Given the description of an element on the screen output the (x, y) to click on. 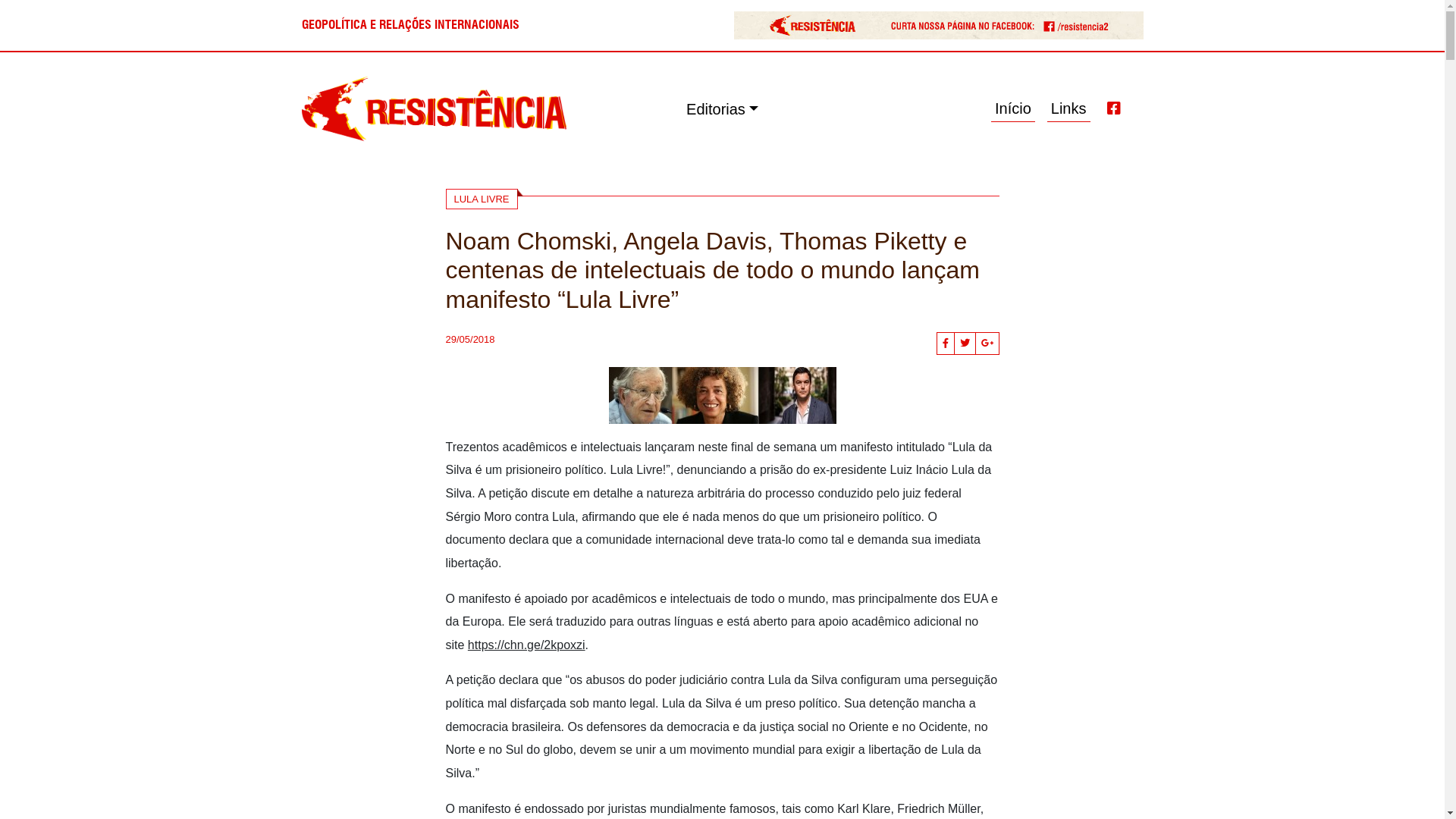
Links Element type: text (1068, 108)
Editorias Element type: text (722, 108)
LULA LIVRE Element type: text (481, 198)
Facebook Element type: text (1113, 108)
https://chn.ge/2kpoxzi Element type: text (526, 644)
